Given the description of an element on the screen output the (x, y) to click on. 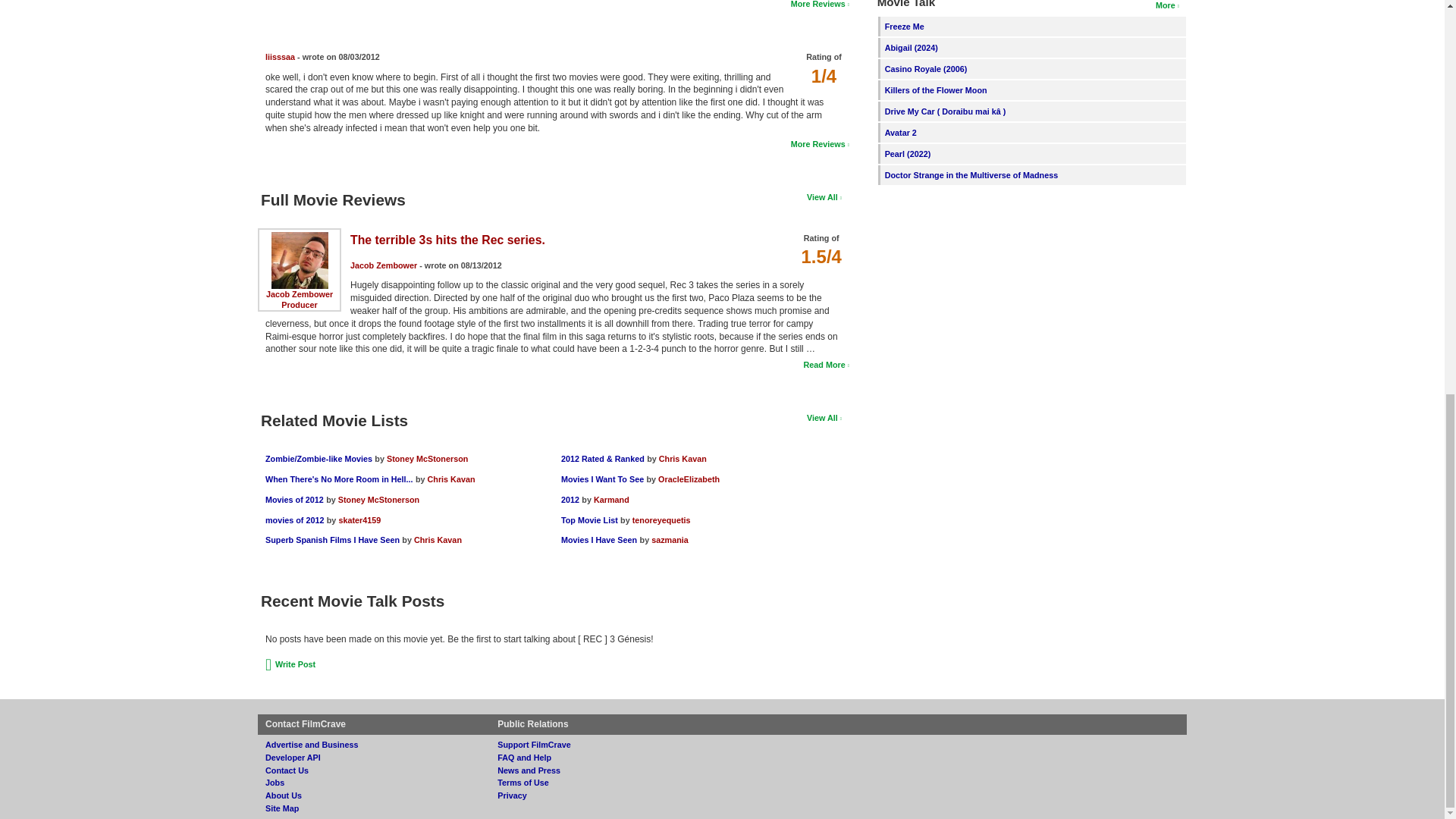
Read more reviews from Unknown (819, 4)
